Given the description of an element on the screen output the (x, y) to click on. 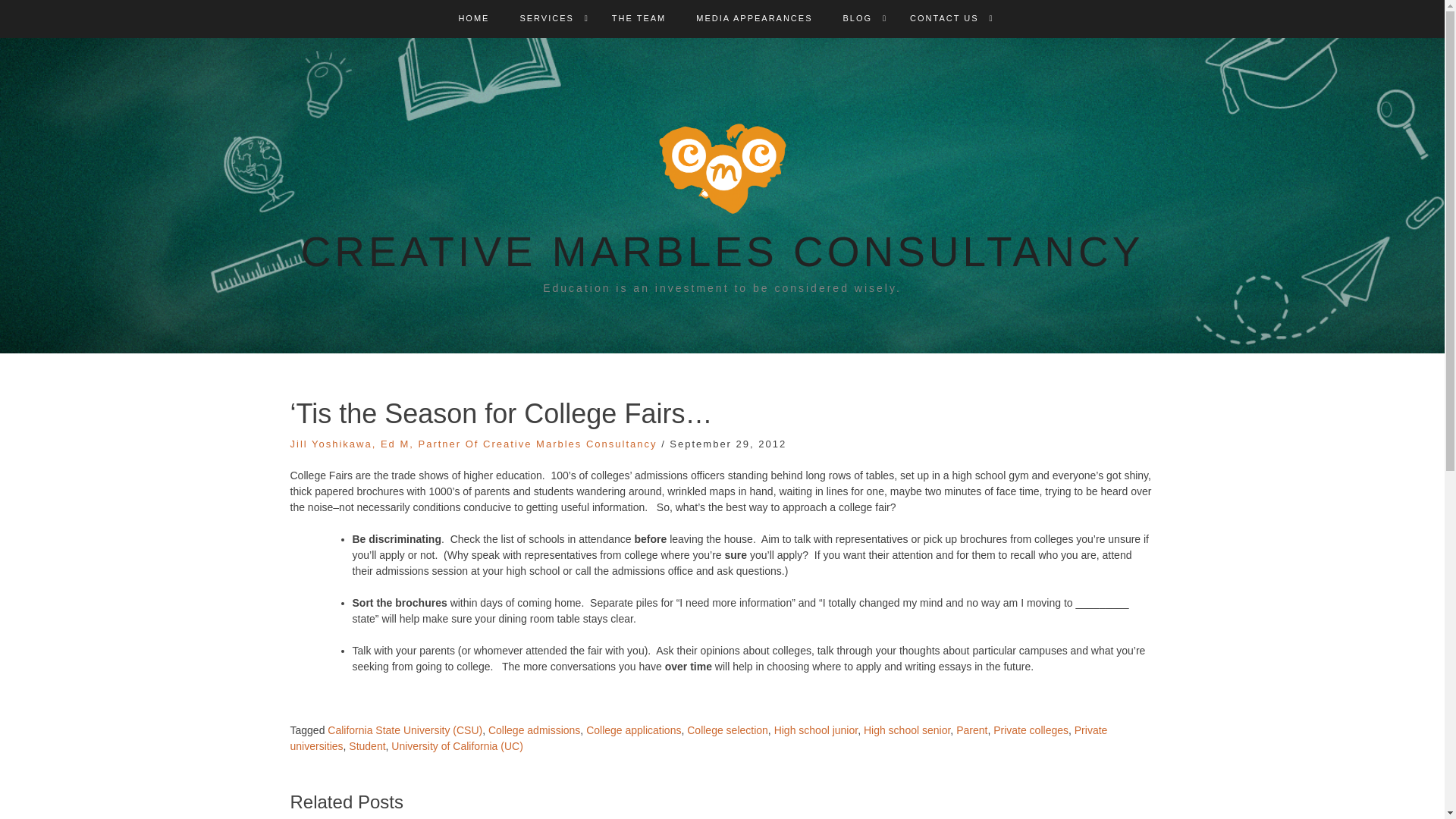
College selection (727, 729)
CREATIVE MARBLES CONSULTANCY (722, 251)
SERVICES (546, 18)
CONTACT US (944, 18)
College admissions (533, 729)
MEDIA APPEARANCES (753, 18)
College applications (633, 729)
High school junior (816, 729)
THE TEAM (638, 18)
